Given the description of an element on the screen output the (x, y) to click on. 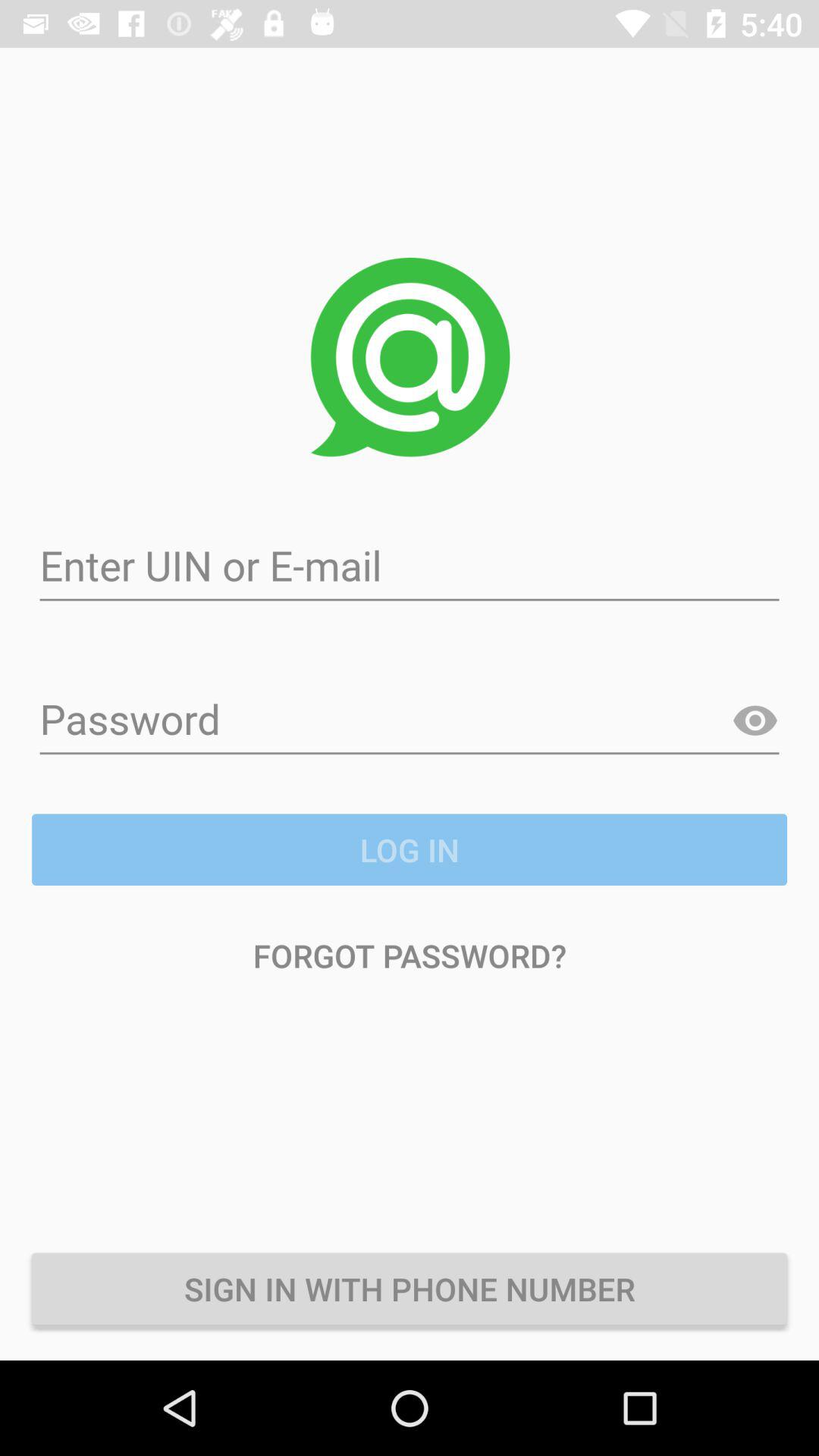
click item below log in icon (409, 955)
